Given the description of an element on the screen output the (x, y) to click on. 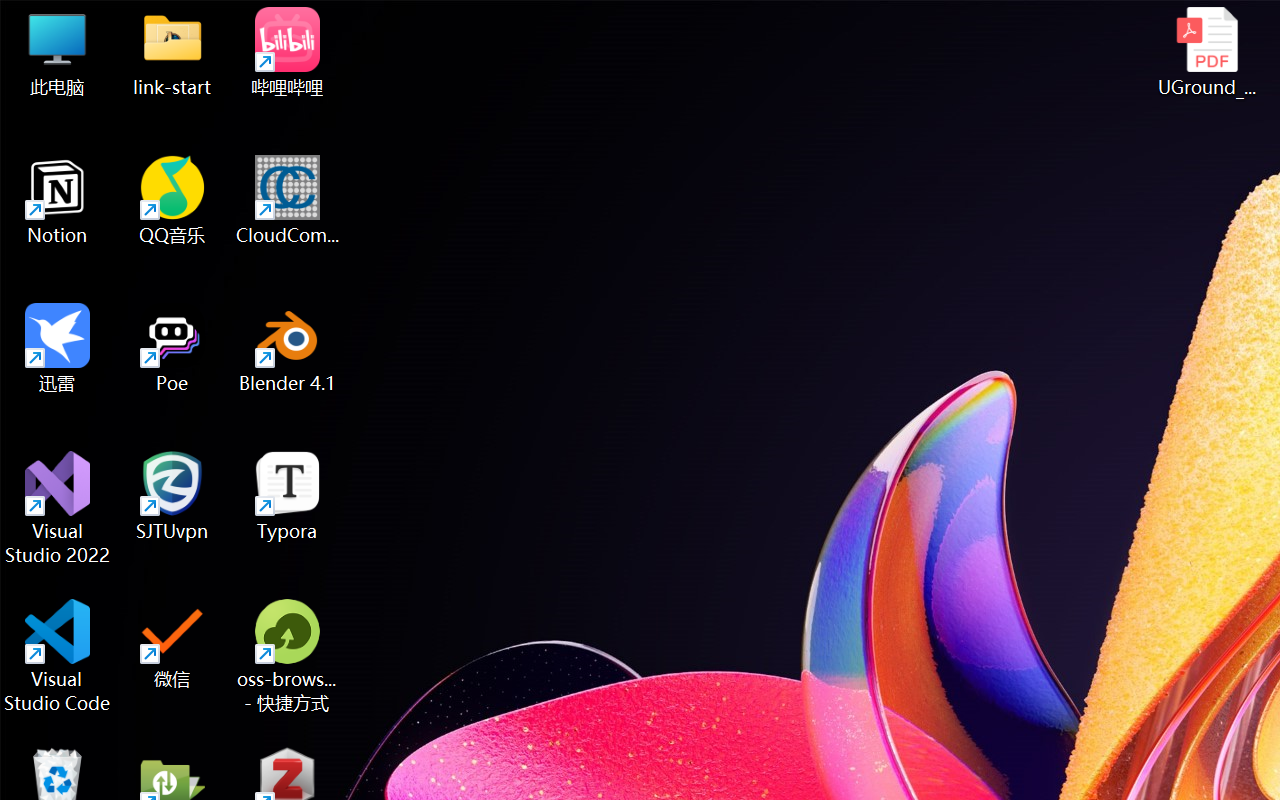
Typora (287, 496)
Visual Studio Code (57, 656)
Visual Studio 2022 (57, 508)
SJTUvpn (172, 496)
CloudCompare (287, 200)
UGround_paper.pdf (1206, 52)
Blender 4.1 (287, 348)
